Given the description of an element on the screen output the (x, y) to click on. 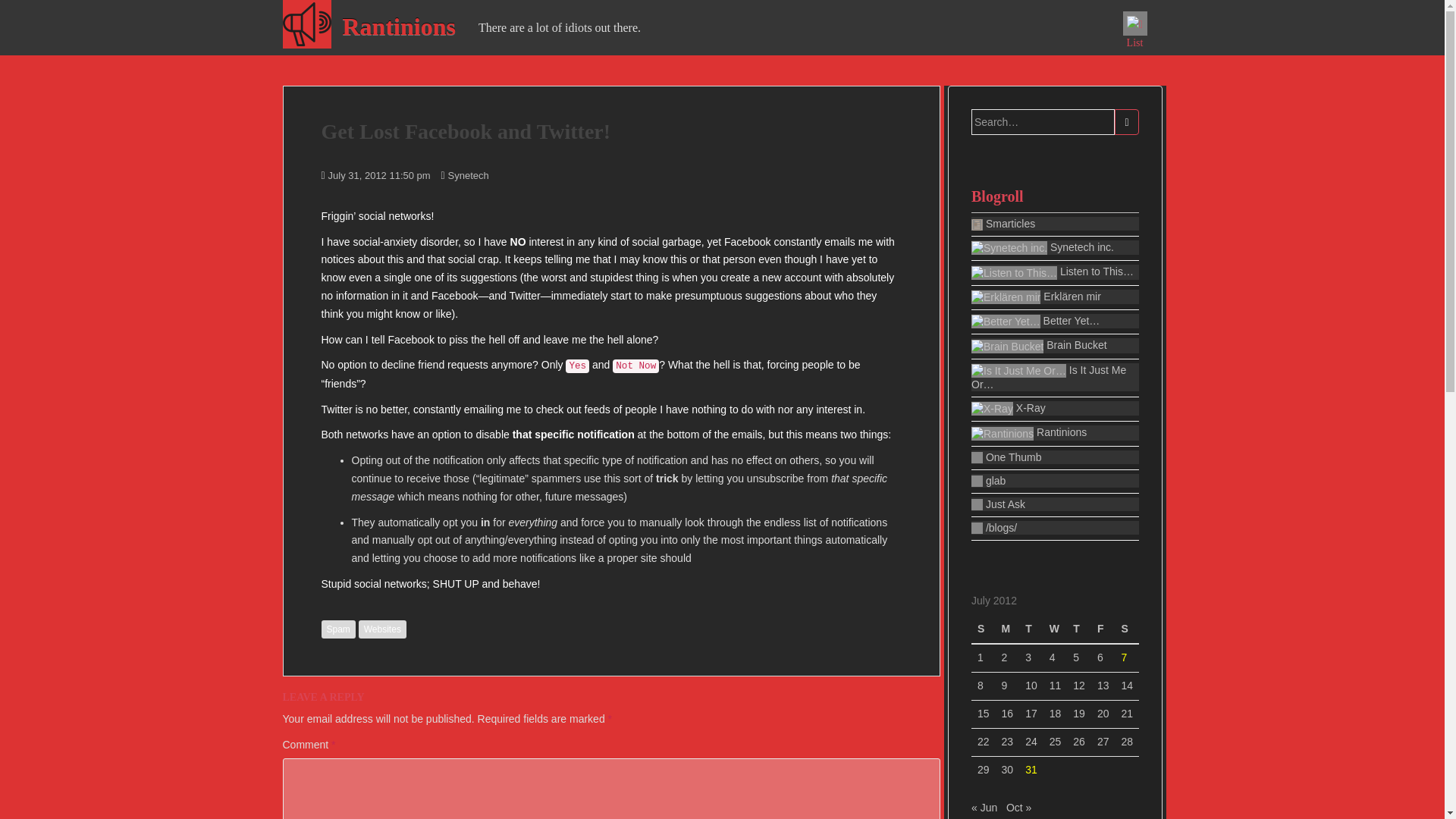
31 (1030, 769)
Spam (338, 628)
Rantinions (1054, 432)
Search (1126, 121)
List (1134, 23)
Learn Something Esoteric (1054, 223)
Blogroll (1054, 196)
Synetech inc. Blog (1008, 247)
Just Ask (1054, 504)
glab (1054, 480)
Brain Bucket (1054, 345)
Blogroll (1054, 196)
Rantinions (397, 26)
Synetech inc. Blog (1054, 247)
Rantinions (397, 26)
